Given the description of an element on the screen output the (x, y) to click on. 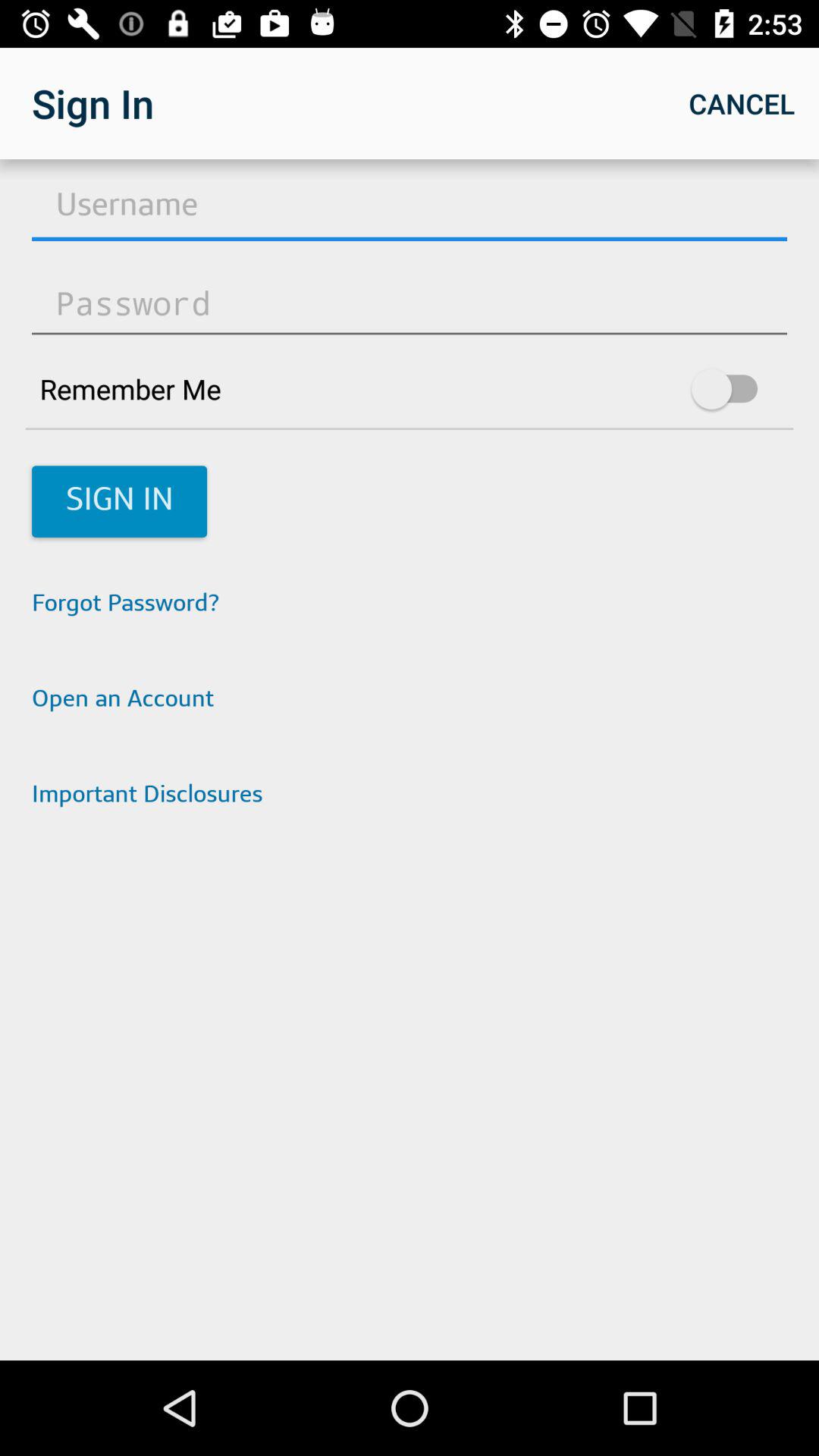
launch the item below the cancel item (409, 206)
